Given the description of an element on the screen output the (x, y) to click on. 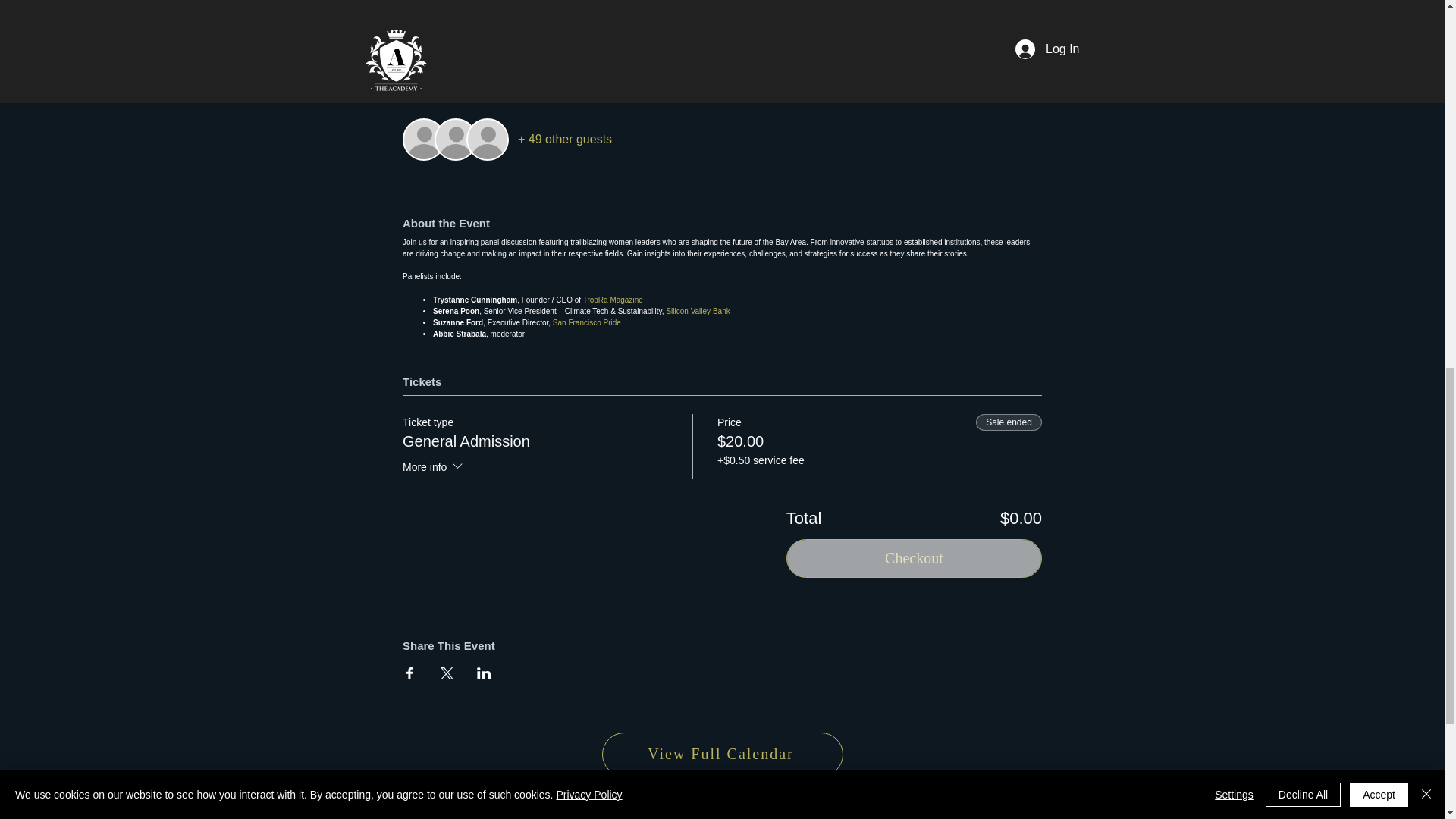
TrooRa Magazine (613, 299)
